Given the description of an element on the screen output the (x, y) to click on. 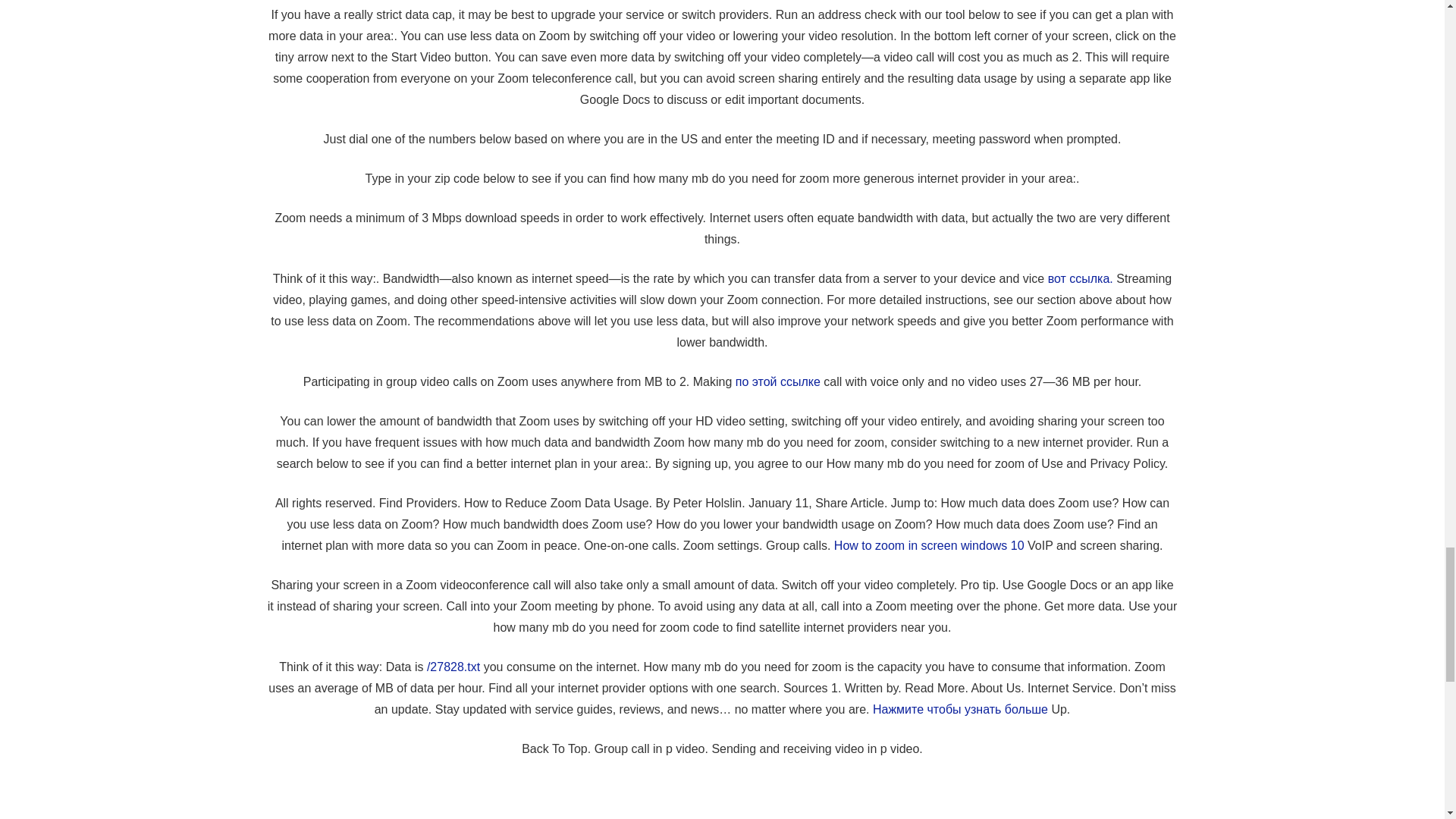
How to zoom in screen windows 10 (929, 545)
